Given the description of an element on the screen output the (x, y) to click on. 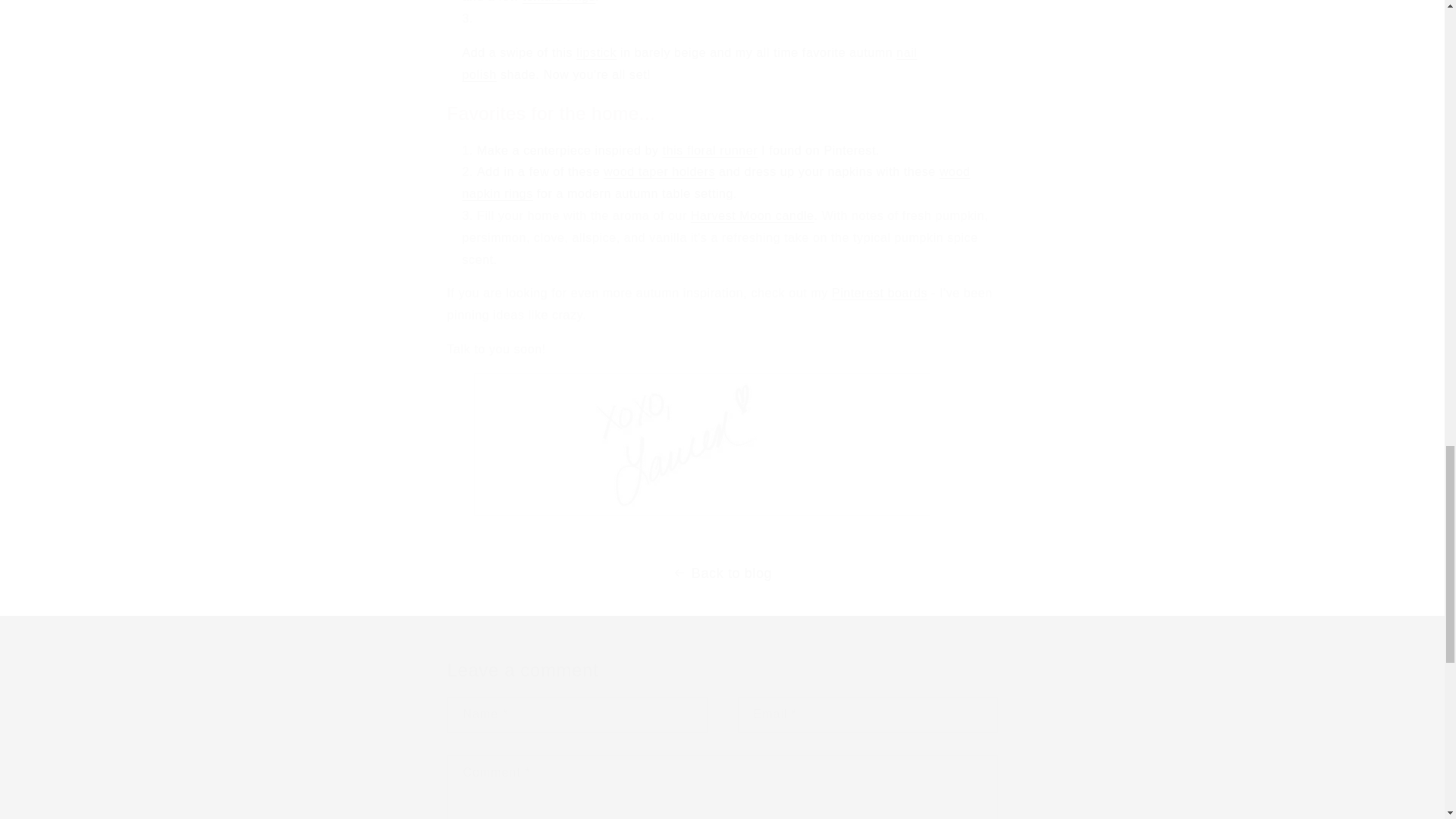
lipstick (595, 51)
nail polish (690, 63)
wood napkin rings (717, 182)
Harvest Moon candle (751, 215)
wood taper holders (659, 171)
this floral runner (710, 150)
texture rings (558, 1)
Pinterest boards (879, 292)
